Given the description of an element on the screen output the (x, y) to click on. 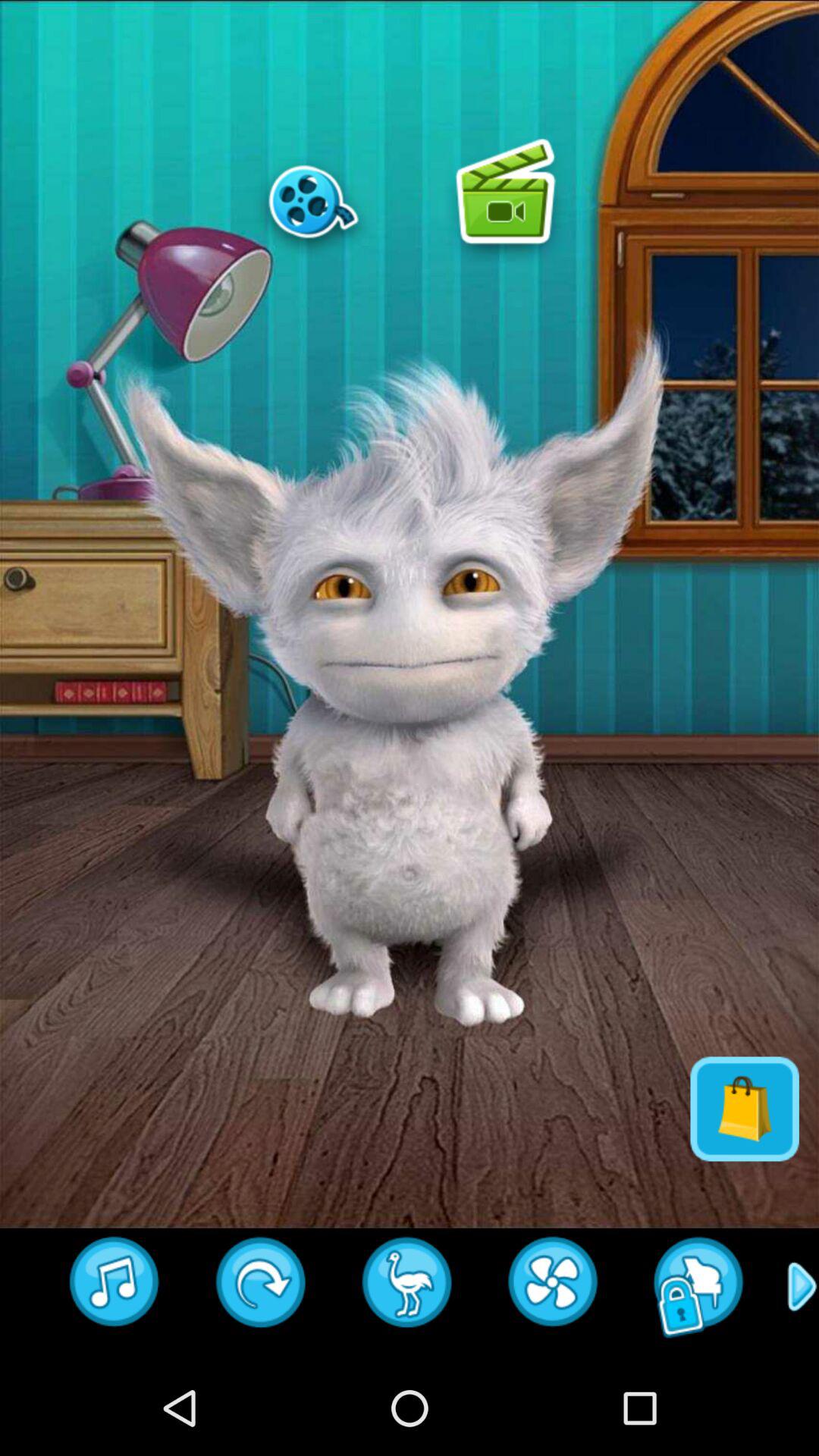
search (699, 1287)
